Given the description of an element on the screen output the (x, y) to click on. 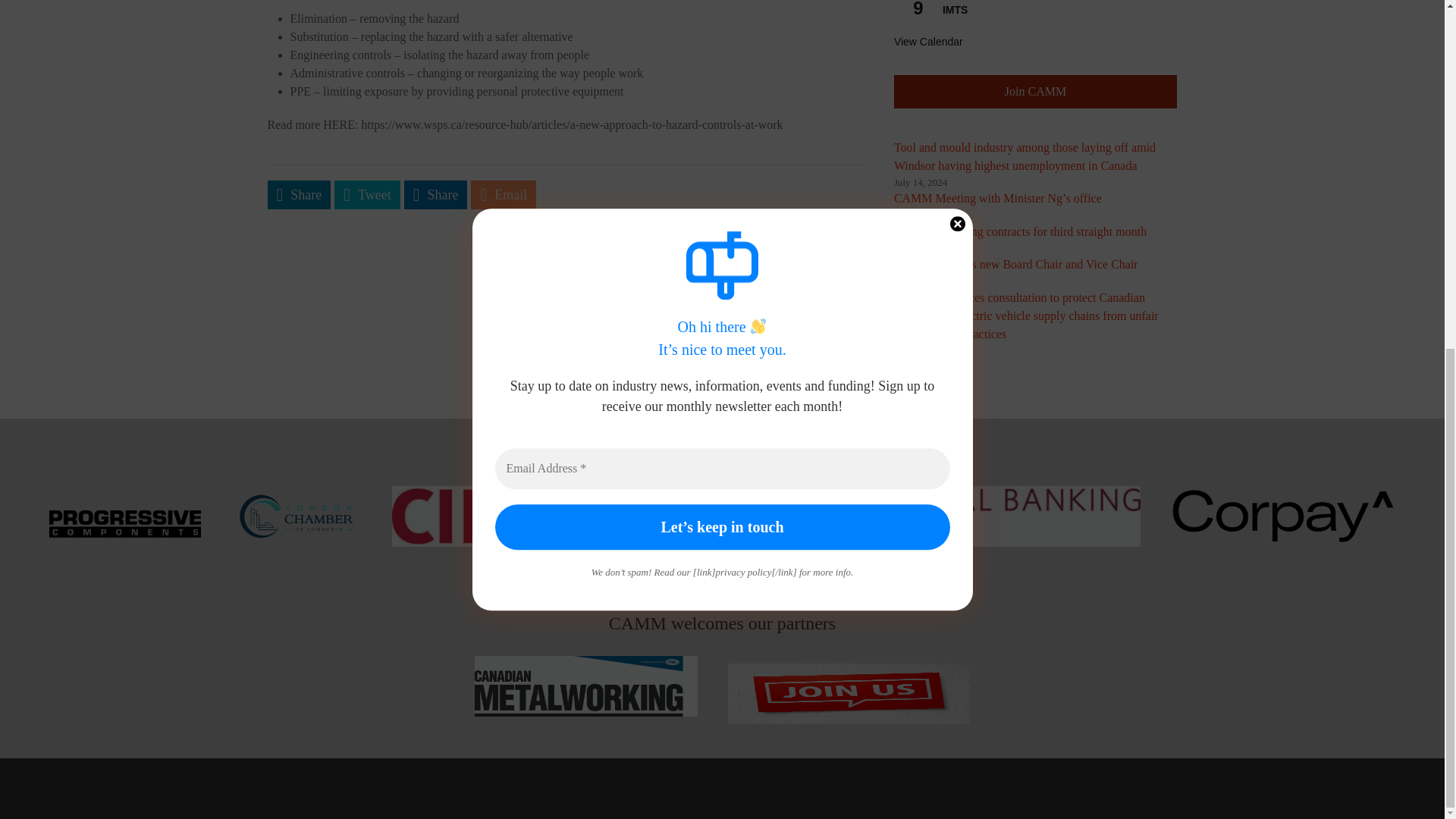
CAMM appoints new Board Chair and Vice Chair (1015, 264)
IMTS (955, 10)
Join CAMM (1034, 91)
View Calendar (927, 42)
US manufacturing contracts for third straight month (1020, 231)
IMTS (955, 10)
View more events. (927, 42)
